Given the description of an element on the screen output the (x, y) to click on. 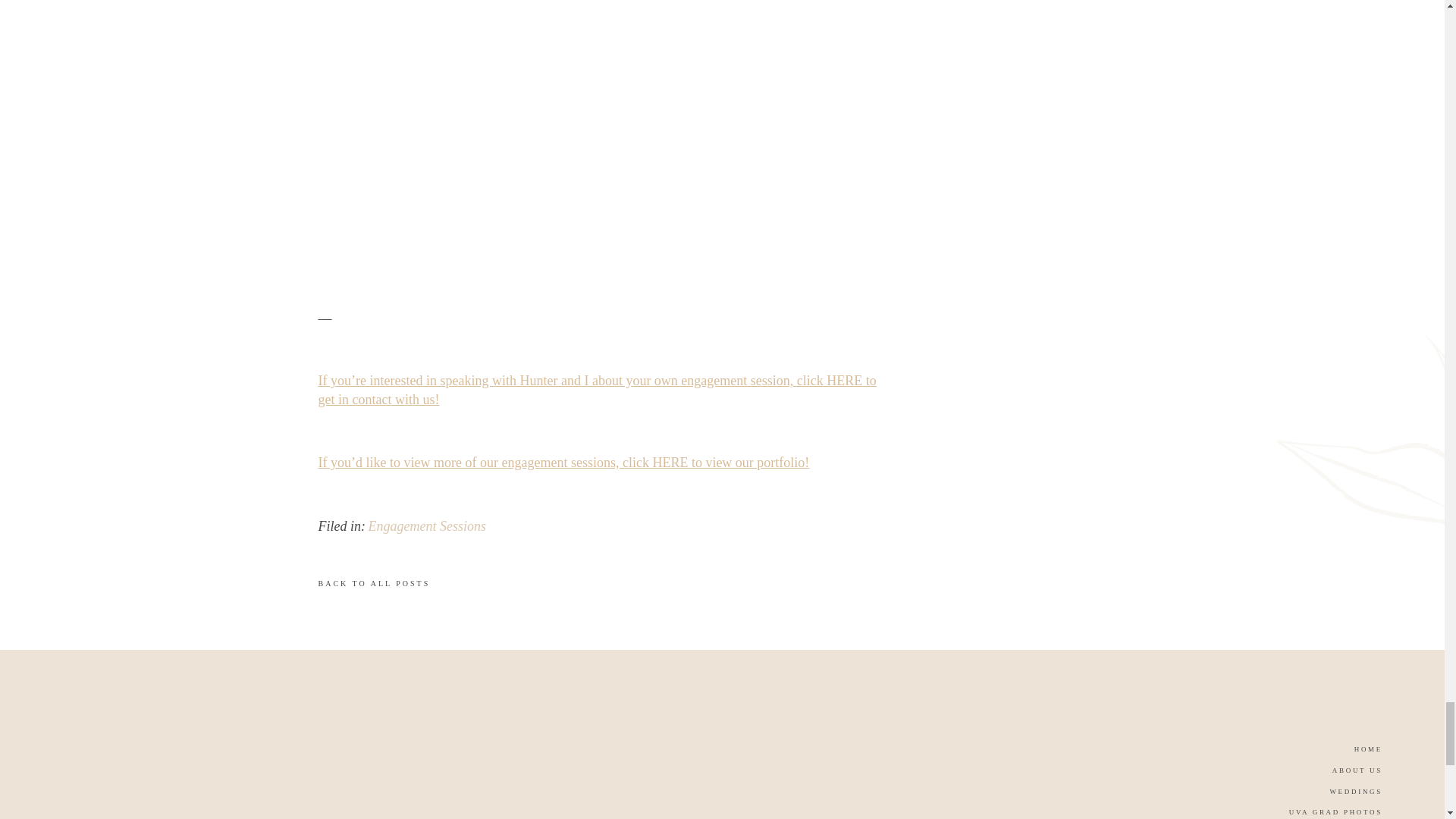
UVA GRAD PHOTOS (1307, 814)
BACK TO ALL POSTS (497, 587)
WEDDINGS (1341, 793)
ABOUT US (1344, 772)
HOME (1357, 750)
Engagement Sessions (427, 525)
